Given the description of an element on the screen output the (x, y) to click on. 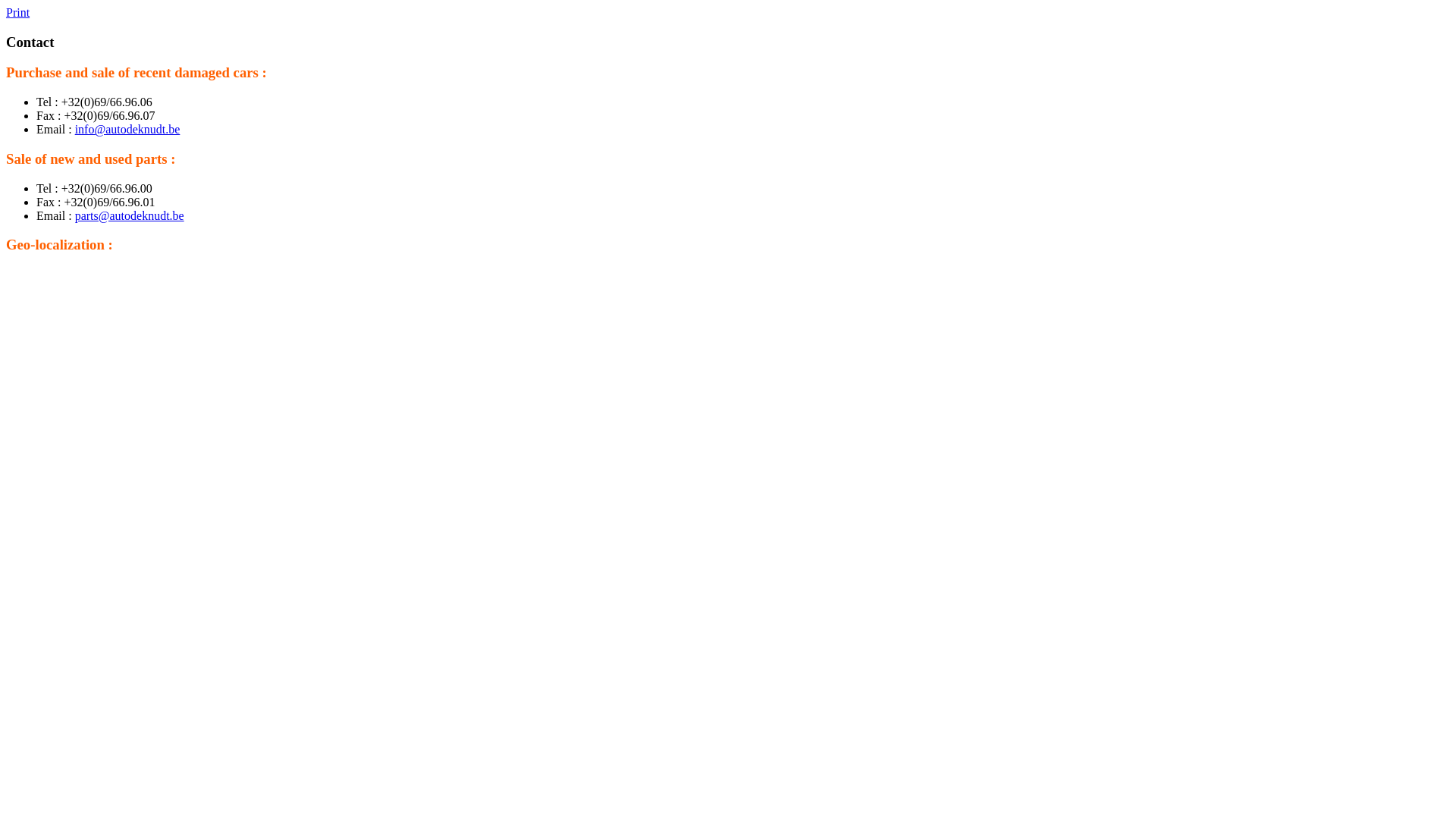
info@autodeknudt.be Element type: text (127, 128)
parts@autodeknudt.be Element type: text (129, 215)
Print Element type: text (17, 12)
